Given the description of an element on the screen output the (x, y) to click on. 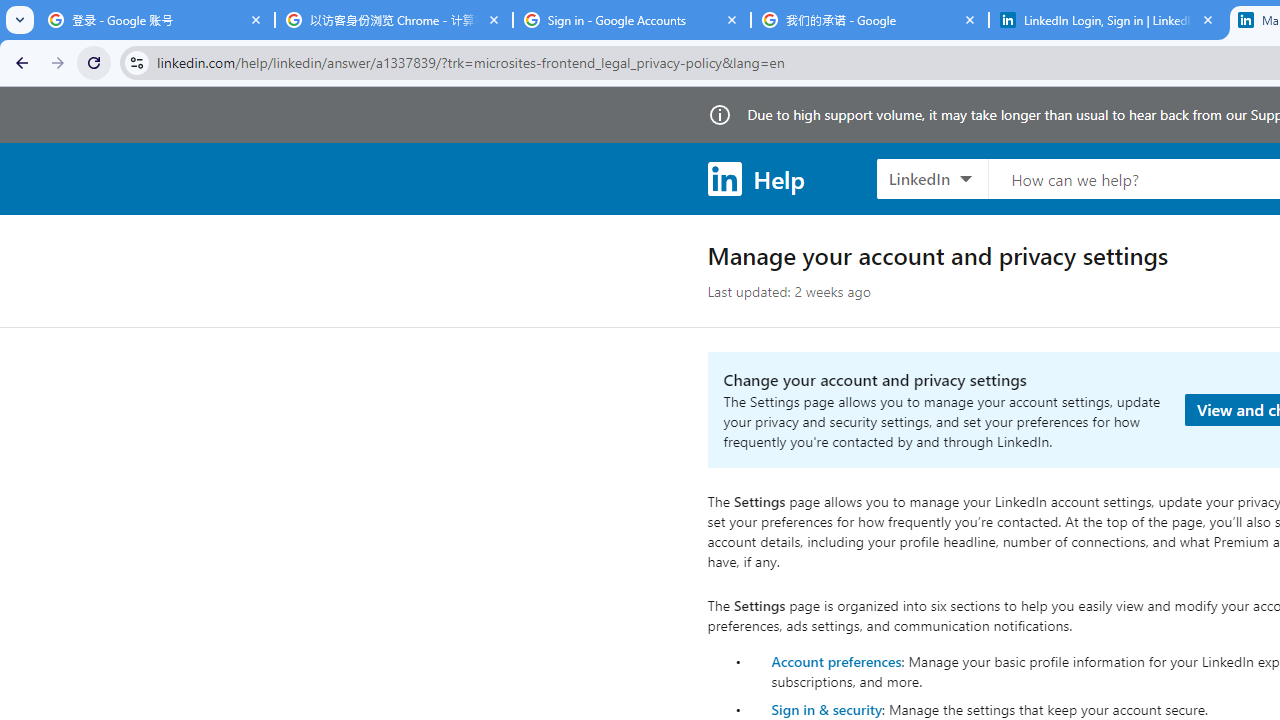
LinkedIn products to search, LinkedIn selected (932, 178)
Sign in & security (826, 709)
Account preferences (836, 660)
Sign in - Google Accounts (632, 20)
